Given the description of an element on the screen output the (x, y) to click on. 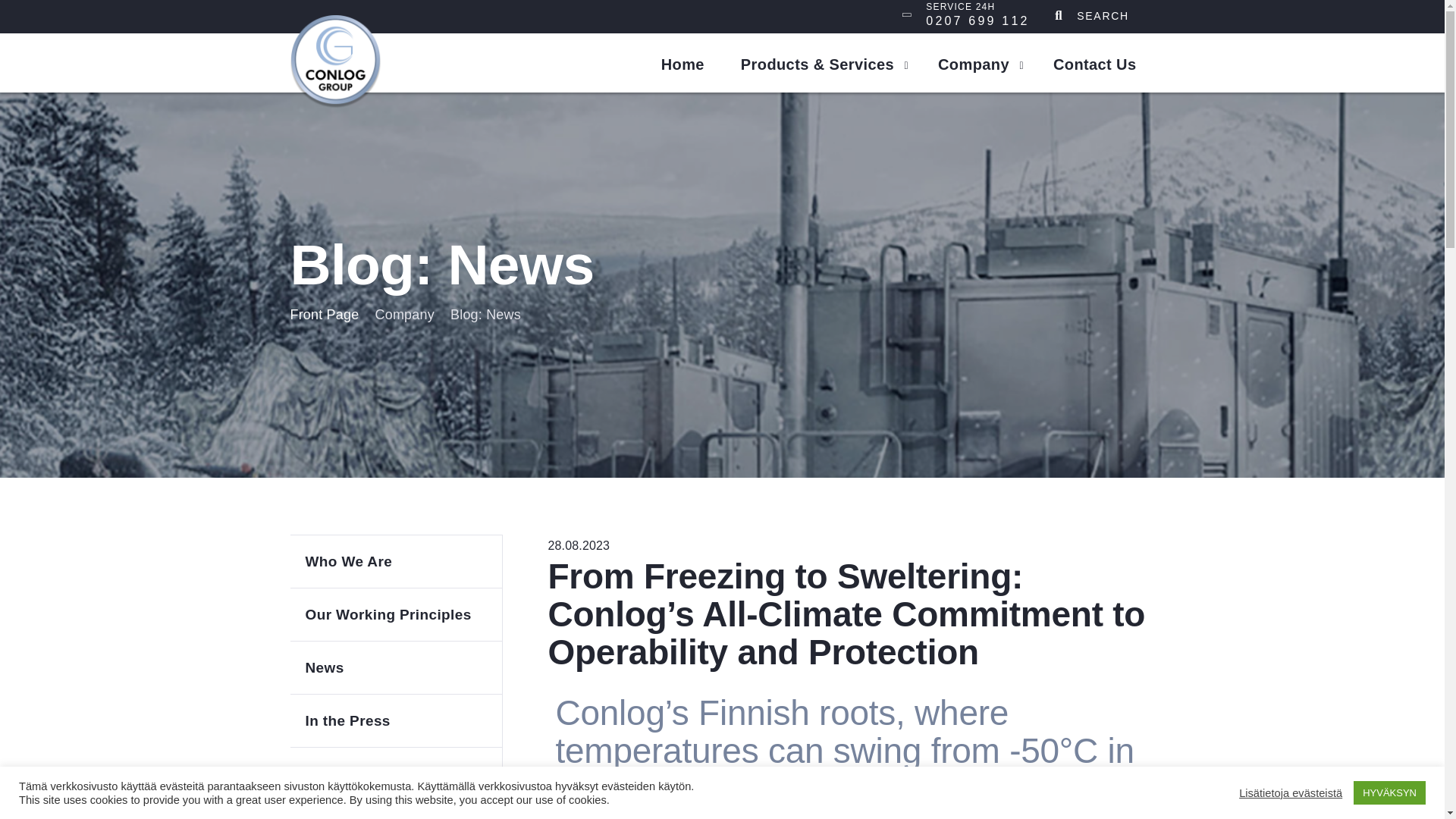
Home (682, 62)
In the Press (977, 14)
Our Working Principles (394, 720)
News (394, 614)
Front Page (394, 667)
Who We Are (323, 314)
Contact Us (394, 561)
SEARCH (1094, 62)
Company (1102, 15)
